Given the description of an element on the screen output the (x, y) to click on. 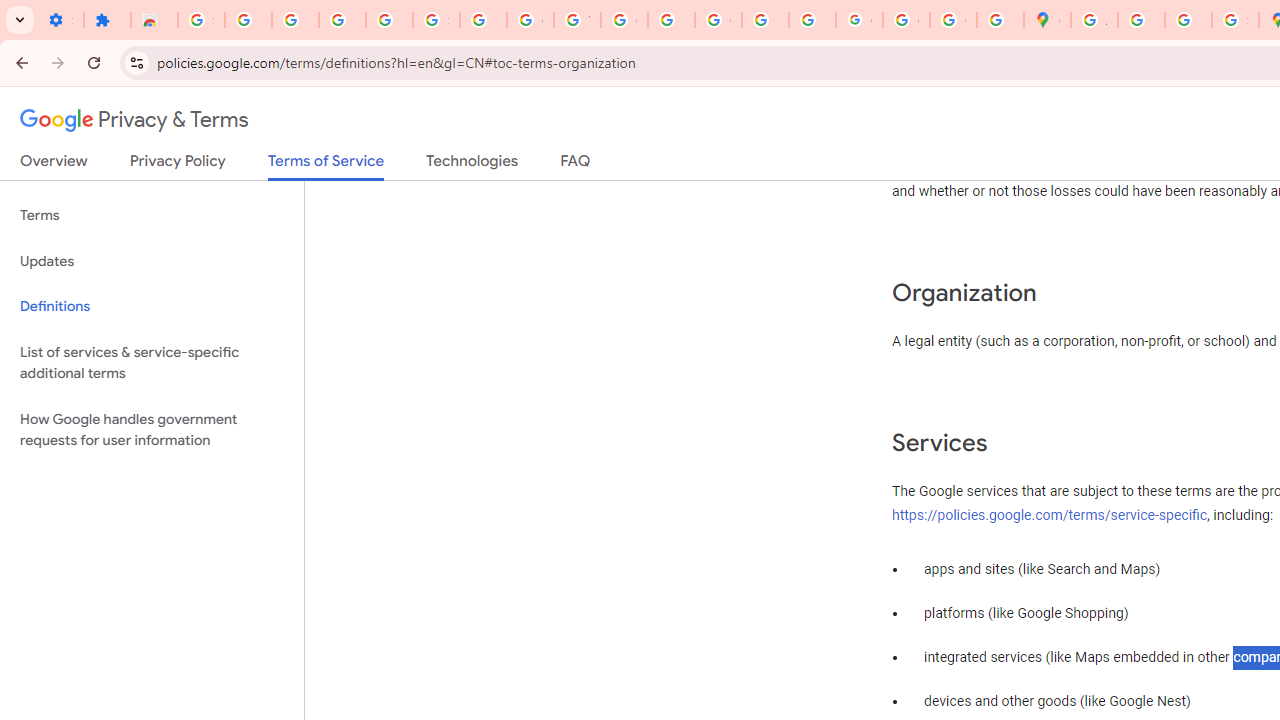
FAQ (575, 165)
How Google handles government requests for user information (152, 429)
Terms (152, 215)
Terms of Service (326, 166)
Privacy & Terms (134, 120)
Overview (54, 165)
List of services & service-specific additional terms (152, 362)
Google Maps (1047, 20)
